Given the description of an element on the screen output the (x, y) to click on. 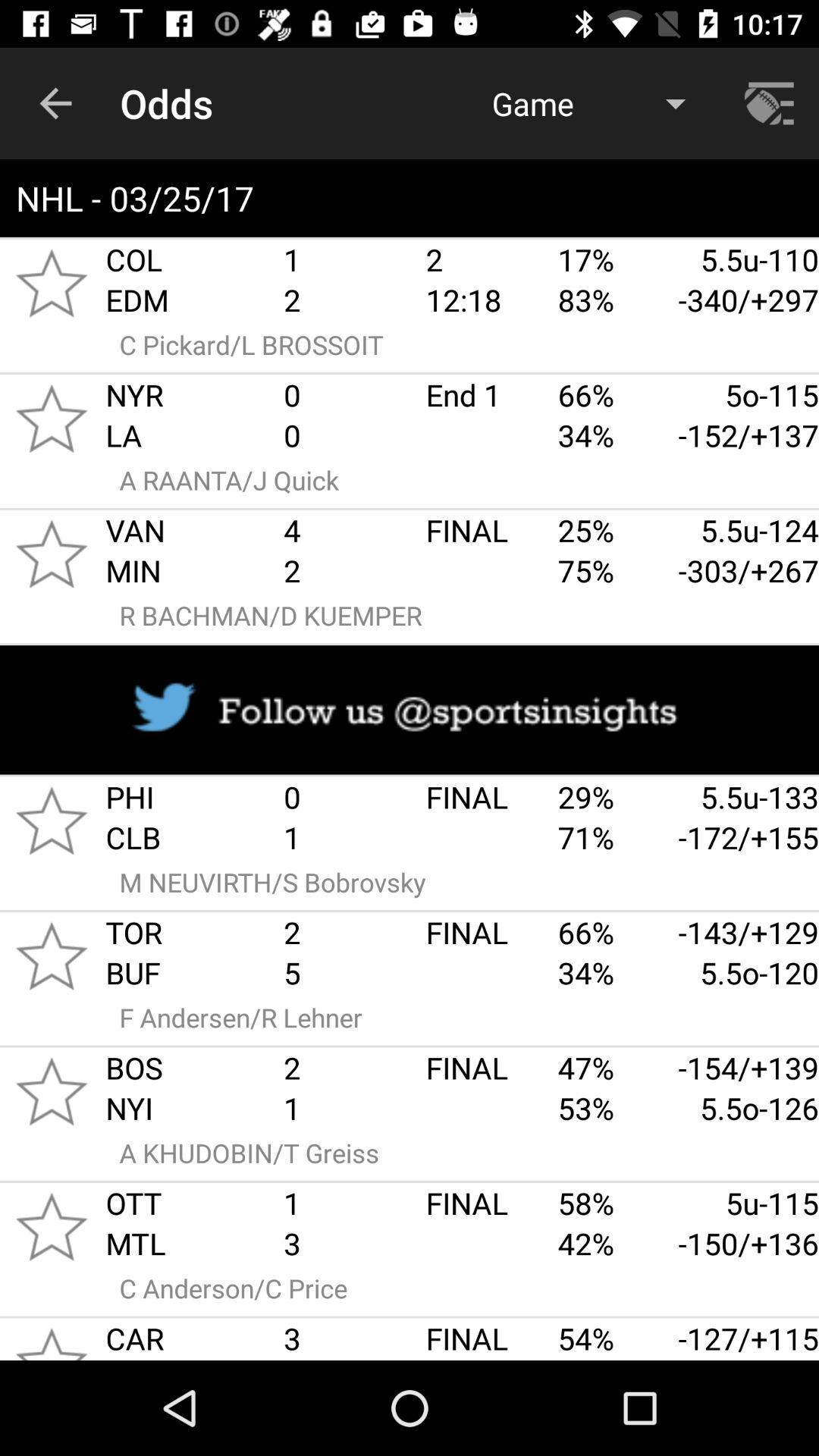
favorite (51, 418)
